Given the description of an element on the screen output the (x, y) to click on. 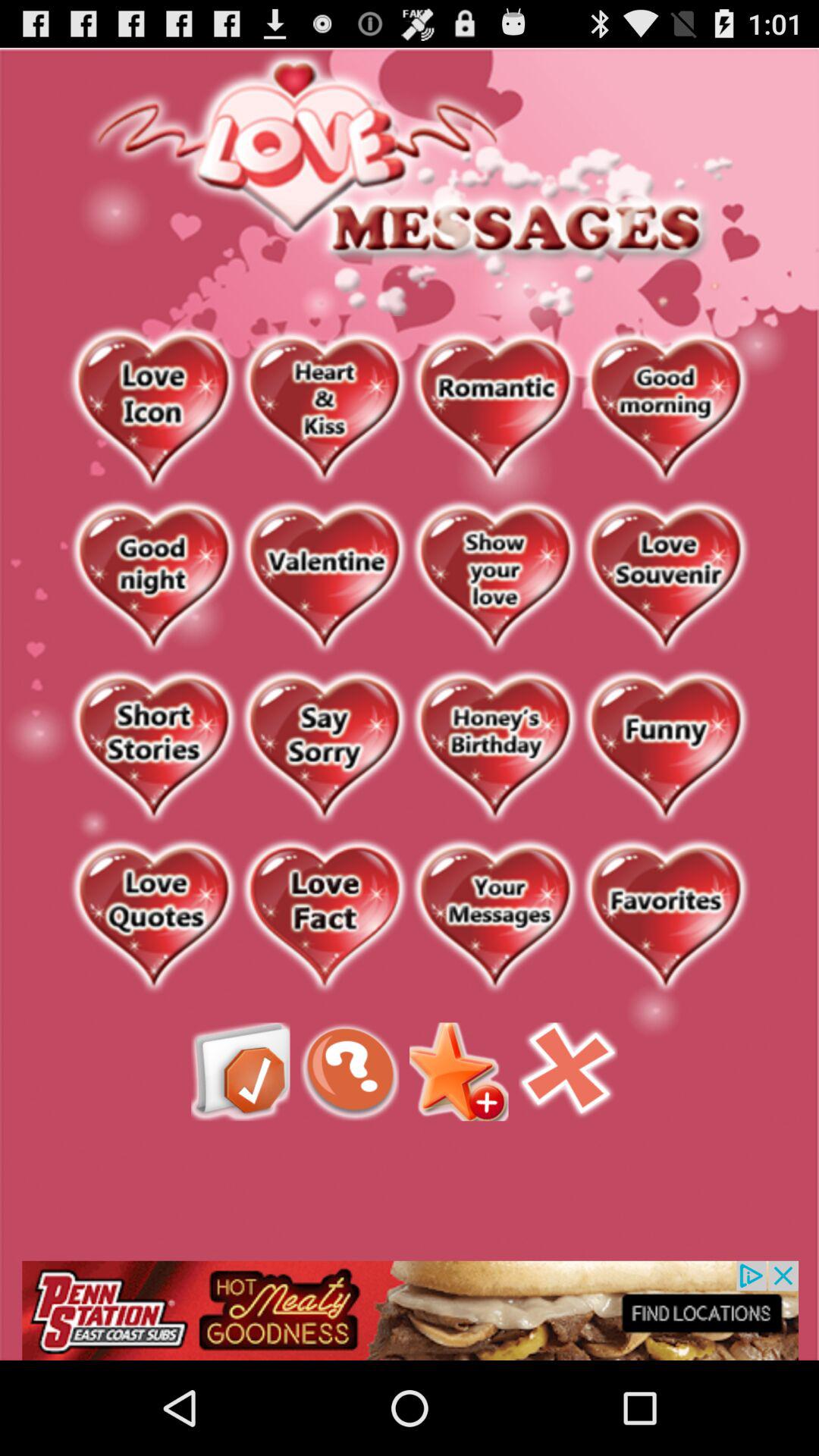
help option (349, 1071)
